Given the description of an element on the screen output the (x, y) to click on. 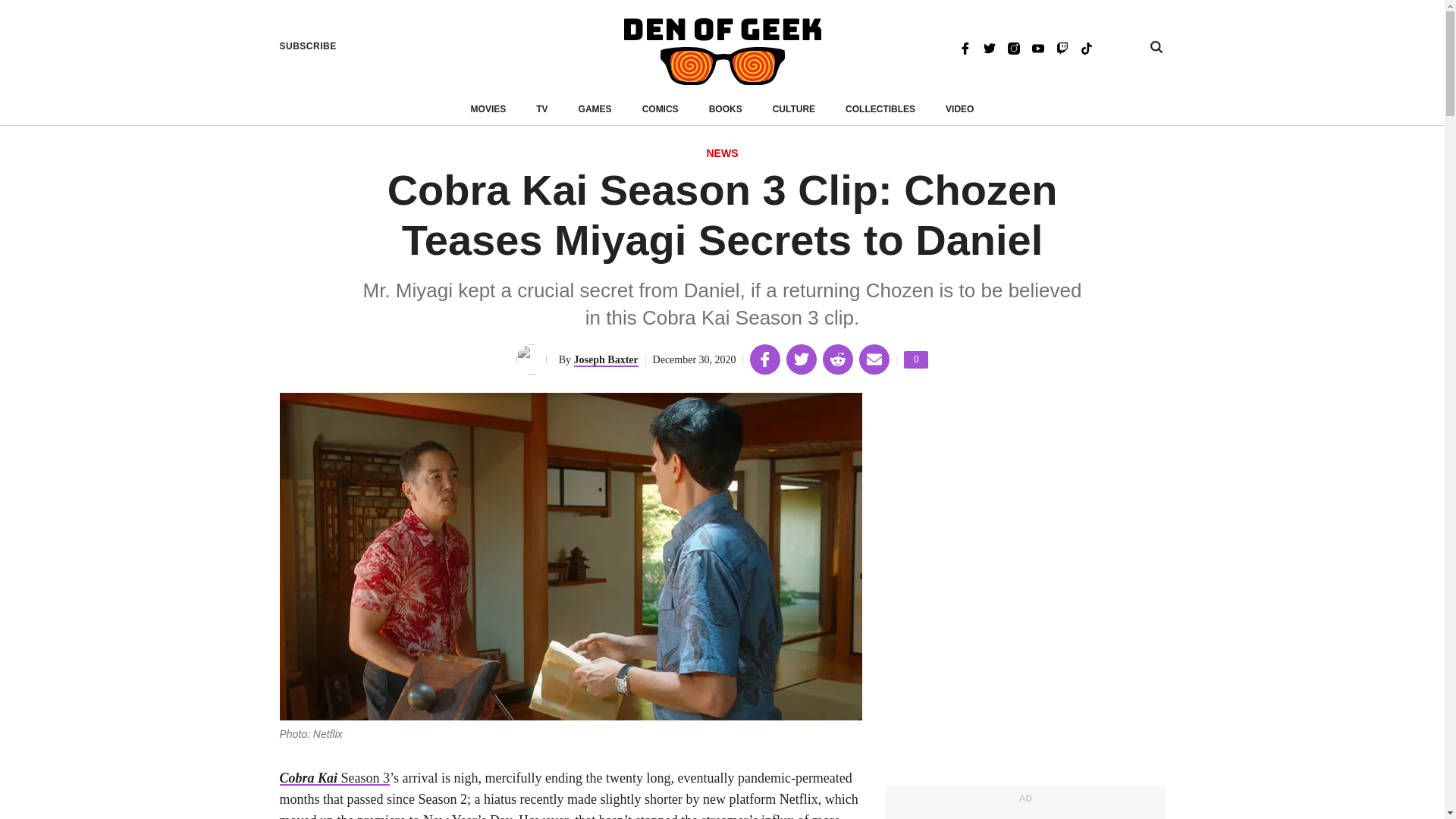
Den of Geek (722, 52)
Cobra Kai Season 3 (334, 777)
Twitch (1061, 46)
NEWS (722, 153)
Instagram (1013, 46)
VIDEO (959, 109)
SUBSCRIBE (307, 46)
Twitter (988, 46)
TikTok (1085, 46)
CULTURE (794, 109)
